Given the description of an element on the screen output the (x, y) to click on. 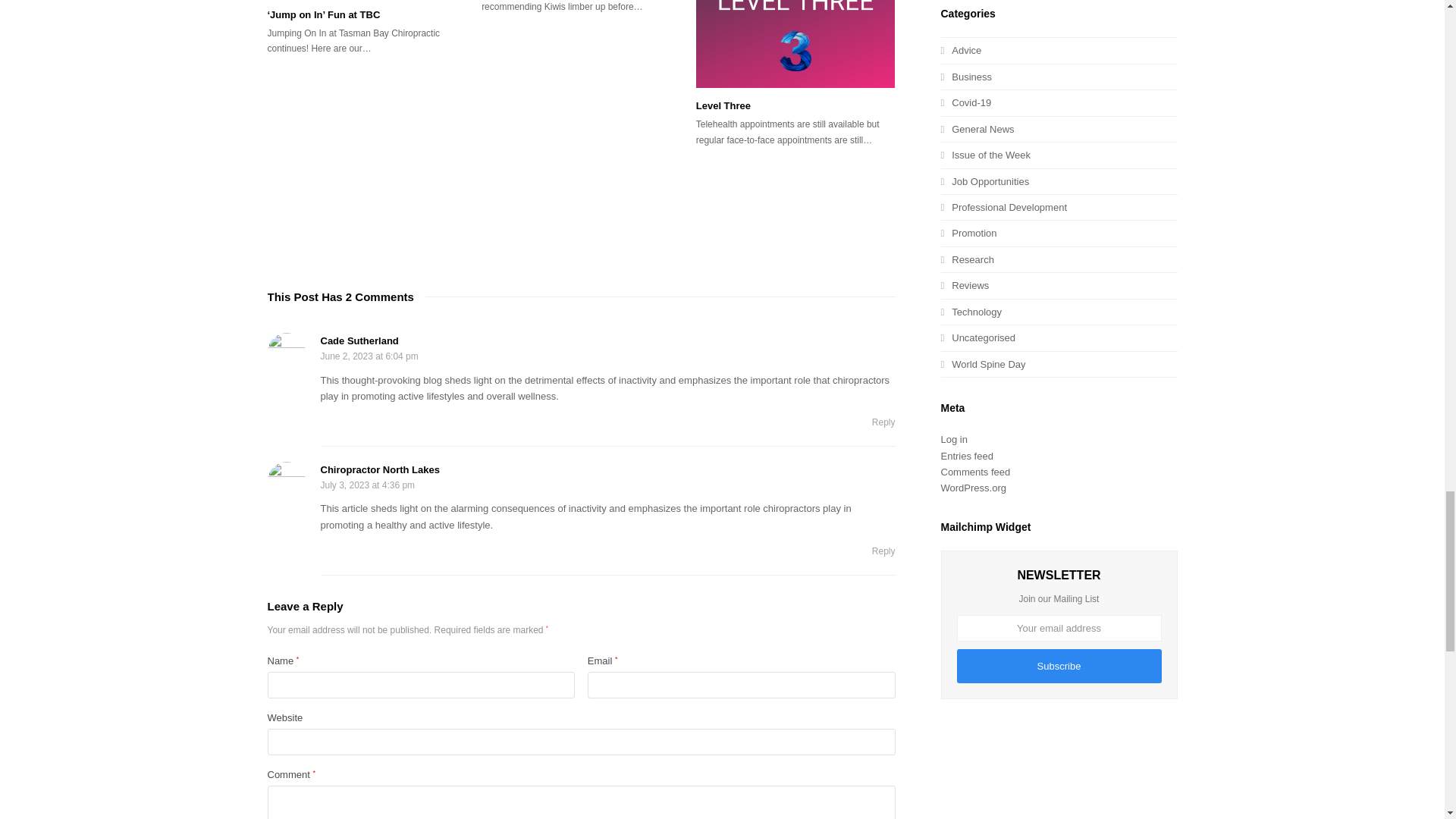
Level Three (795, 43)
